Given the description of an element on the screen output the (x, y) to click on. 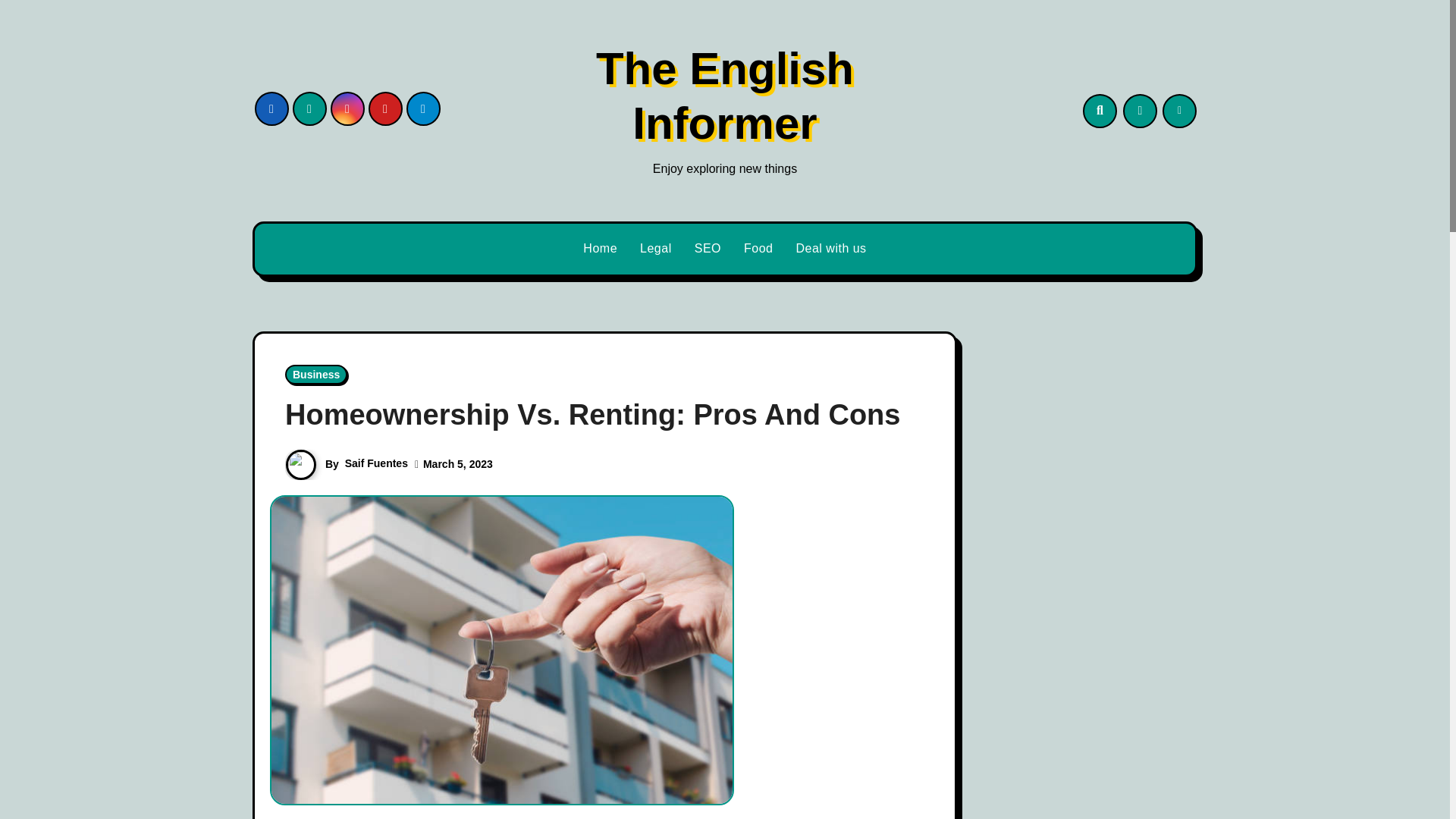
Business (316, 374)
Home (600, 248)
Deal with us (830, 248)
The English Informer (724, 95)
Legal (655, 248)
Food (758, 248)
SEO (707, 248)
SEO (707, 248)
Food (758, 248)
March 5, 2023 (458, 463)
